Given the description of an element on the screen output the (x, y) to click on. 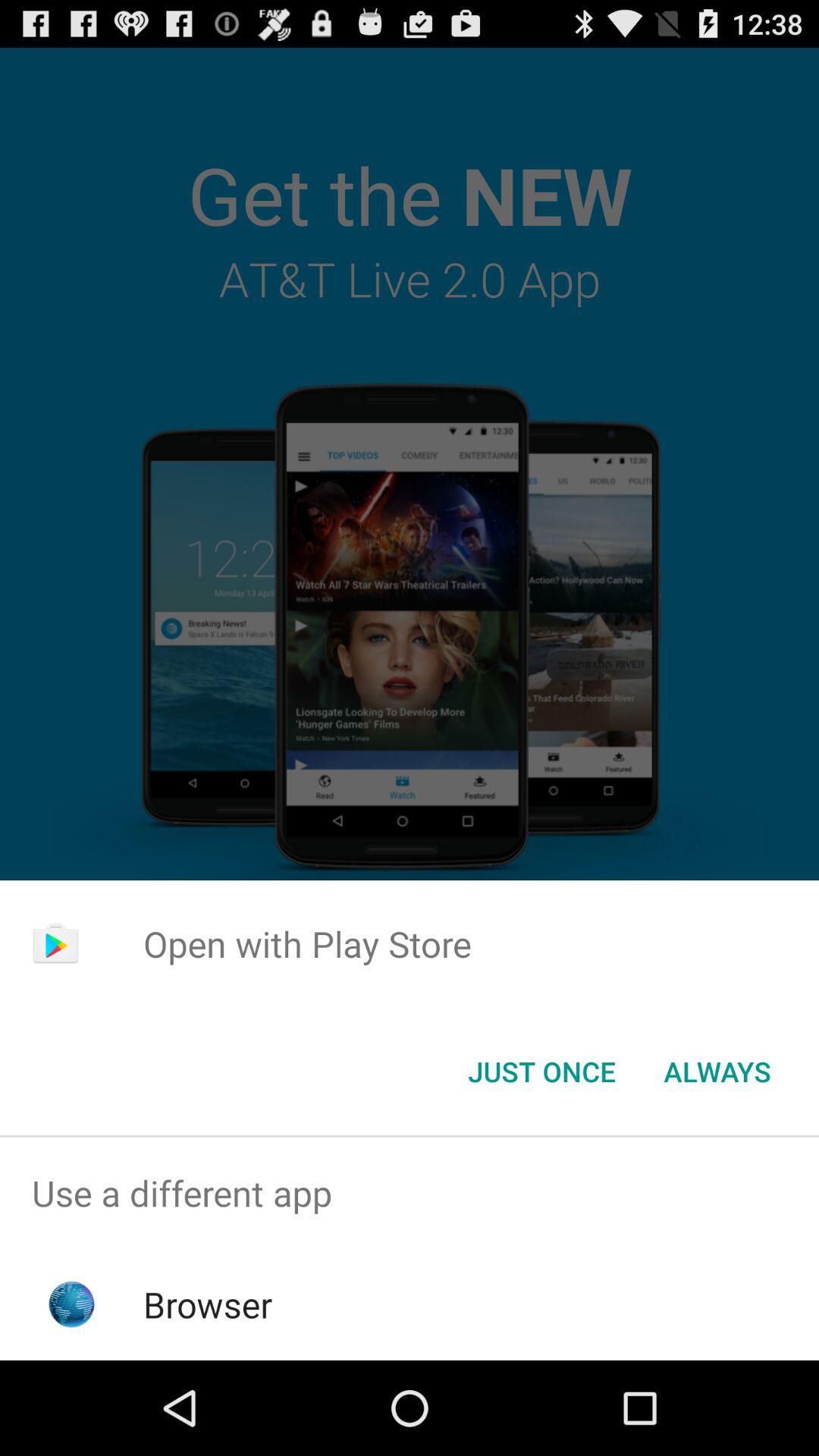
launch app below the open with play item (717, 1071)
